Given the description of an element on the screen output the (x, y) to click on. 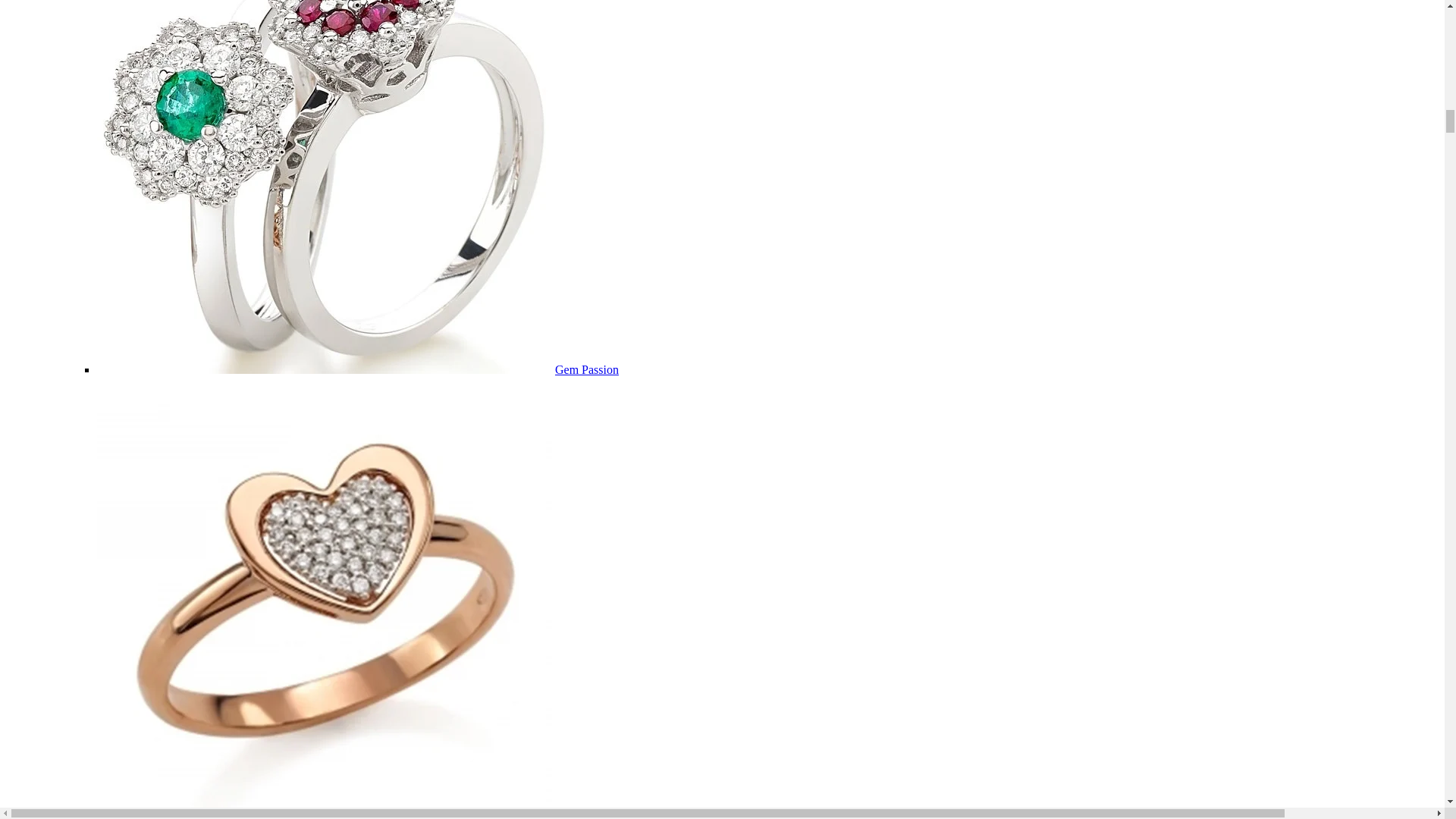
Gem Passion (586, 369)
